Given the description of an element on the screen output the (x, y) to click on. 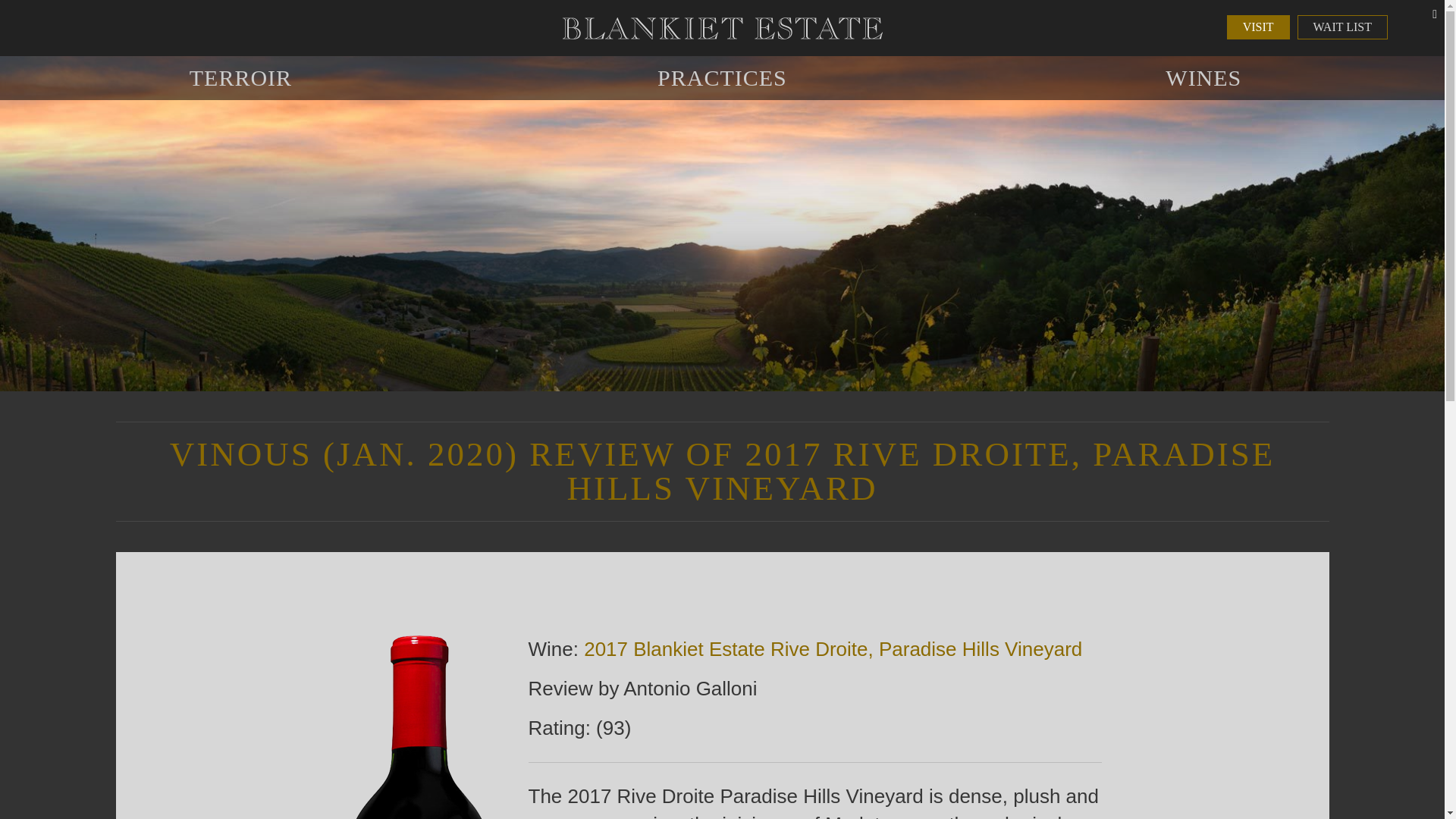
PRACTICES (721, 77)
VISIT (1258, 27)
WAIT LIST (1342, 27)
2017 Blankiet Estate Rive Droite, Paradise Hills Vineyard (832, 649)
TERROIR (240, 77)
